Given the description of an element on the screen output the (x, y) to click on. 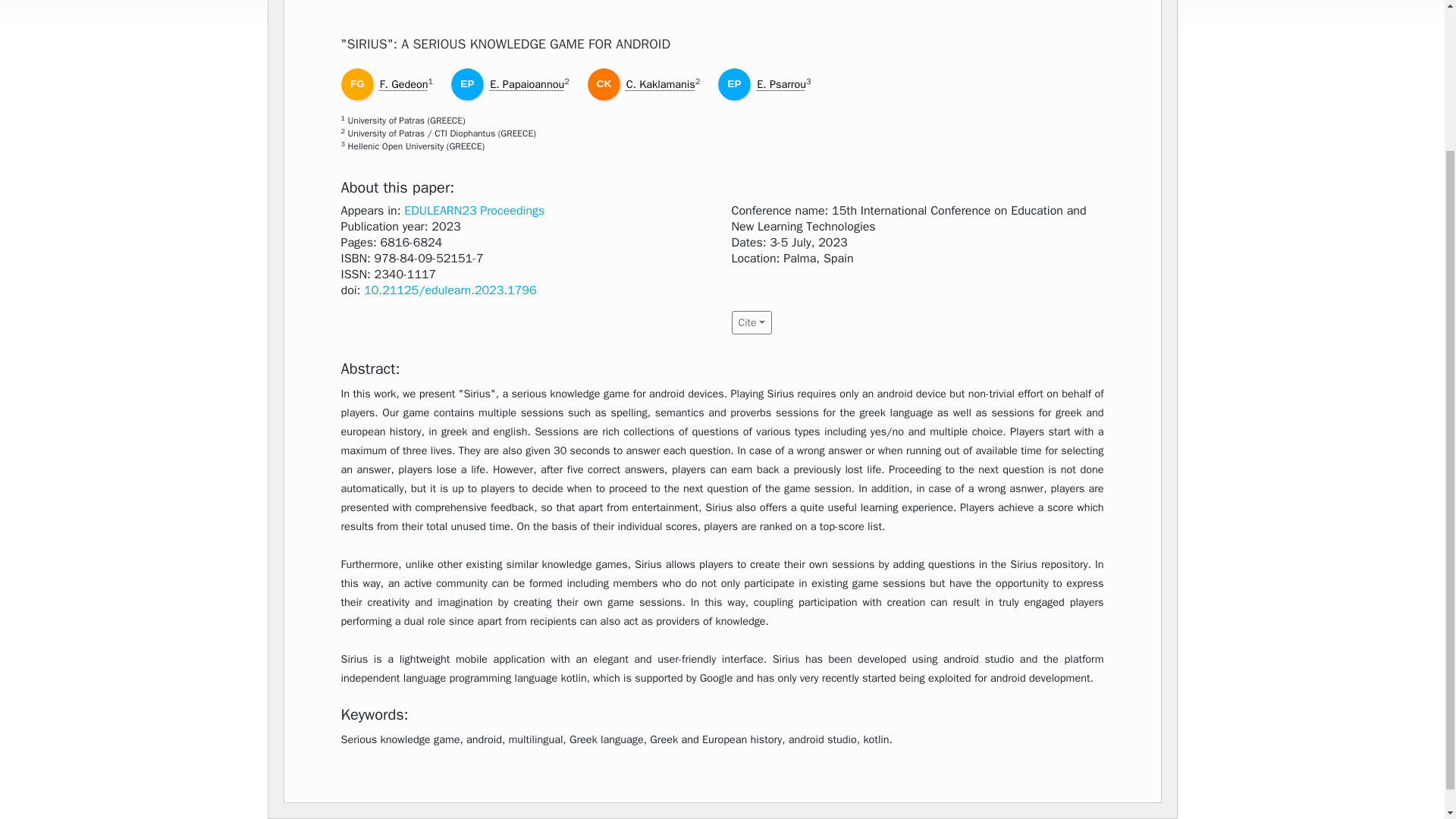
E. Papaioannou (526, 83)
Cite (750, 322)
E. Psarrou (781, 83)
EDULEARN23 Proceedings (474, 210)
C. Kaklamanis (660, 83)
F. Gedeon (404, 83)
doi (449, 290)
